Given the description of an element on the screen output the (x, y) to click on. 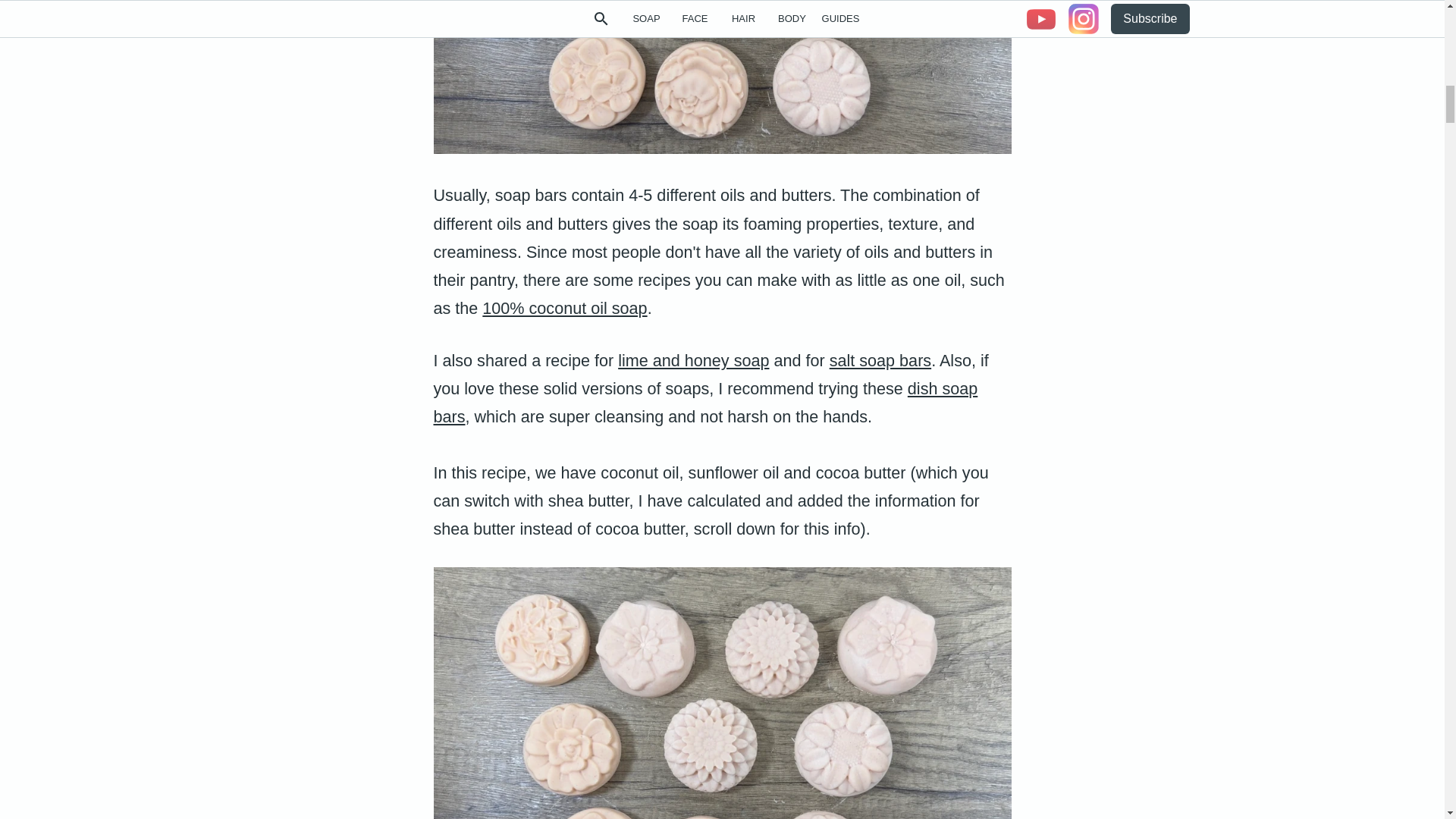
soap3oils30 (722, 76)
dish soap bars (705, 402)
lime and honey soap (692, 360)
salt soap bars (880, 360)
